Given the description of an element on the screen output the (x, y) to click on. 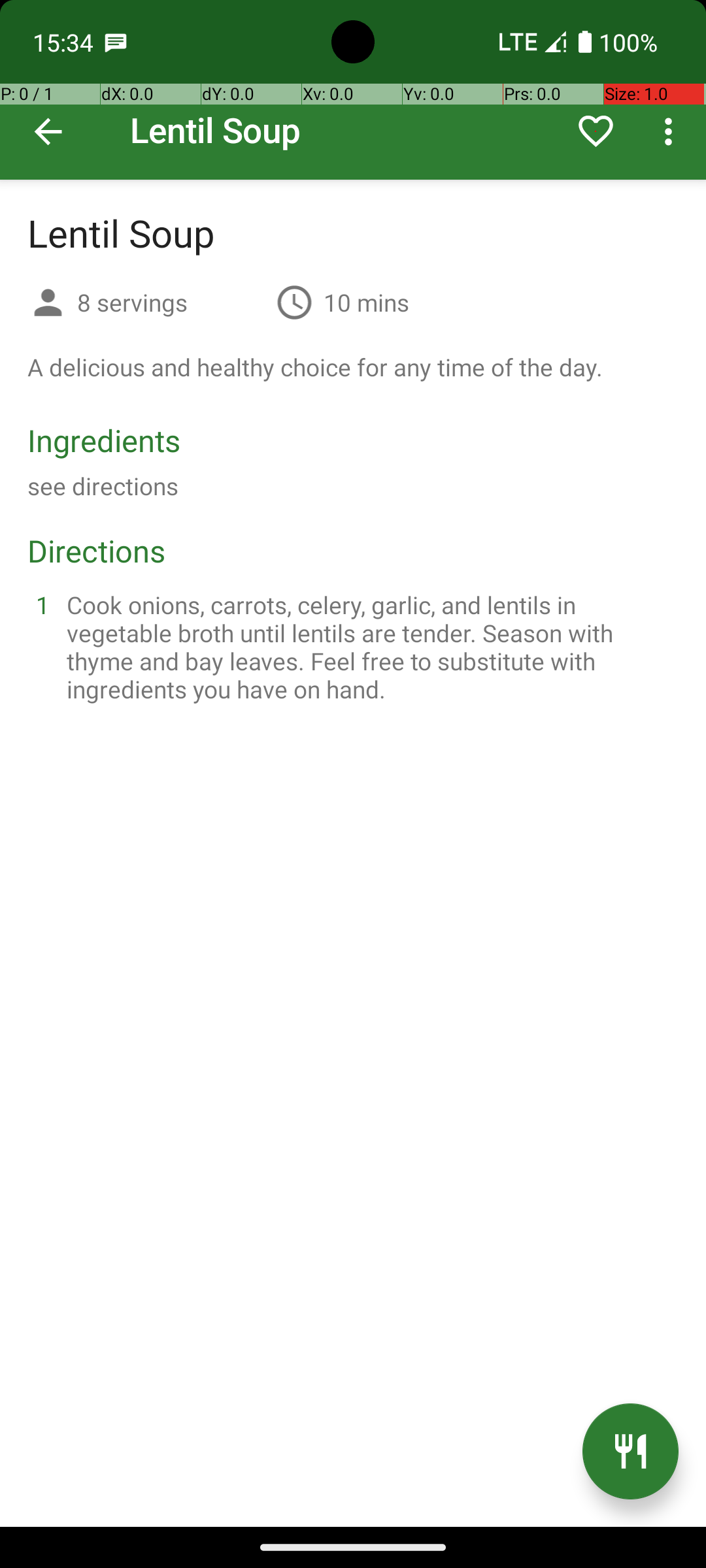
Cook onions, carrots, celery, garlic, and lentils in vegetable broth until lentils are tender. Season with thyme and bay leaves. Feel free to substitute with ingredients you have on hand. Element type: android.widget.TextView (368, 646)
